Given the description of an element on the screen output the (x, y) to click on. 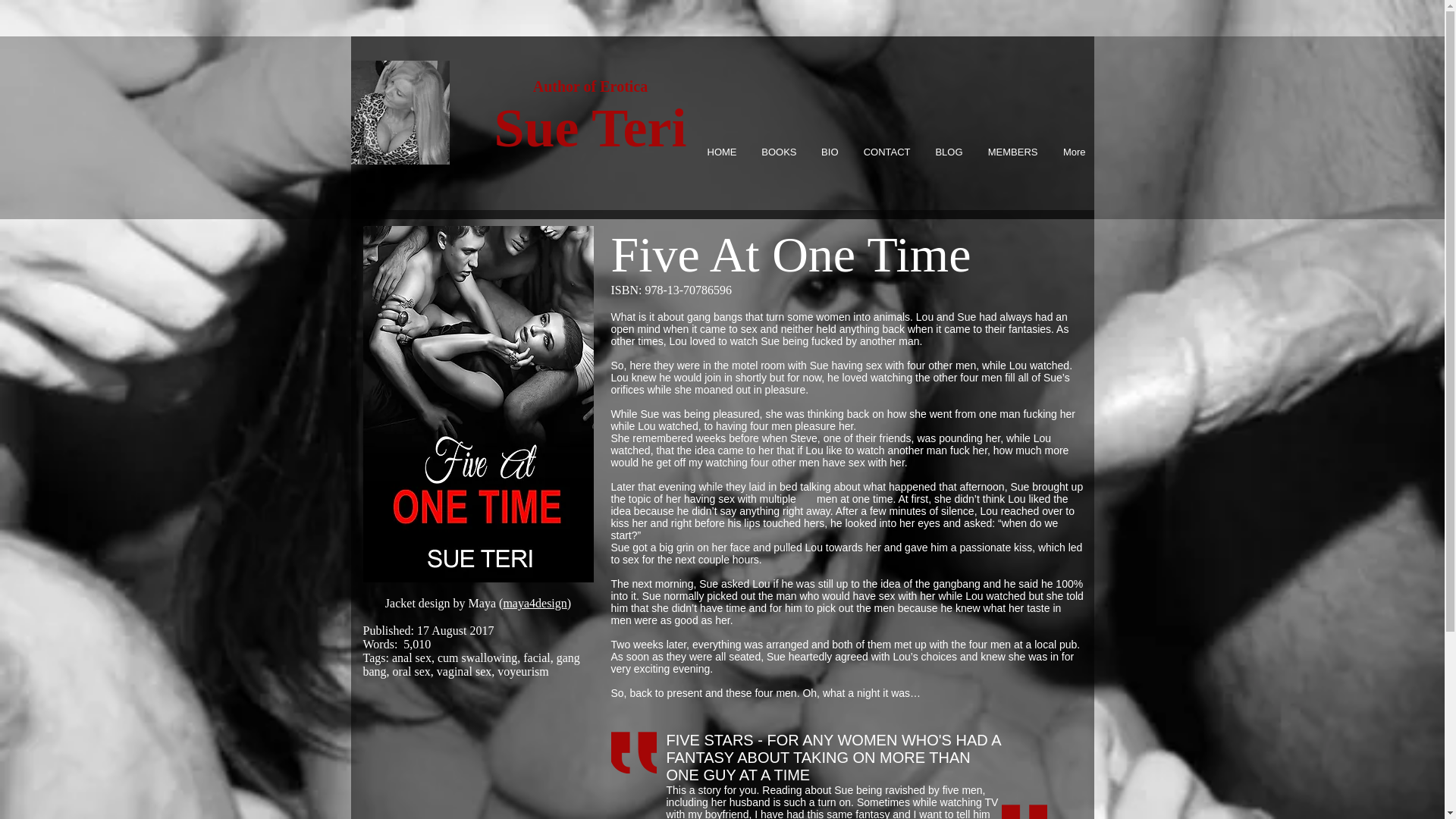
maya4design (534, 603)
BLOG (944, 152)
HOME (717, 152)
BIO (826, 152)
CONTACT (881, 152)
BOOKS (774, 152)
MEMBERS (1008, 152)
